Given the description of an element on the screen output the (x, y) to click on. 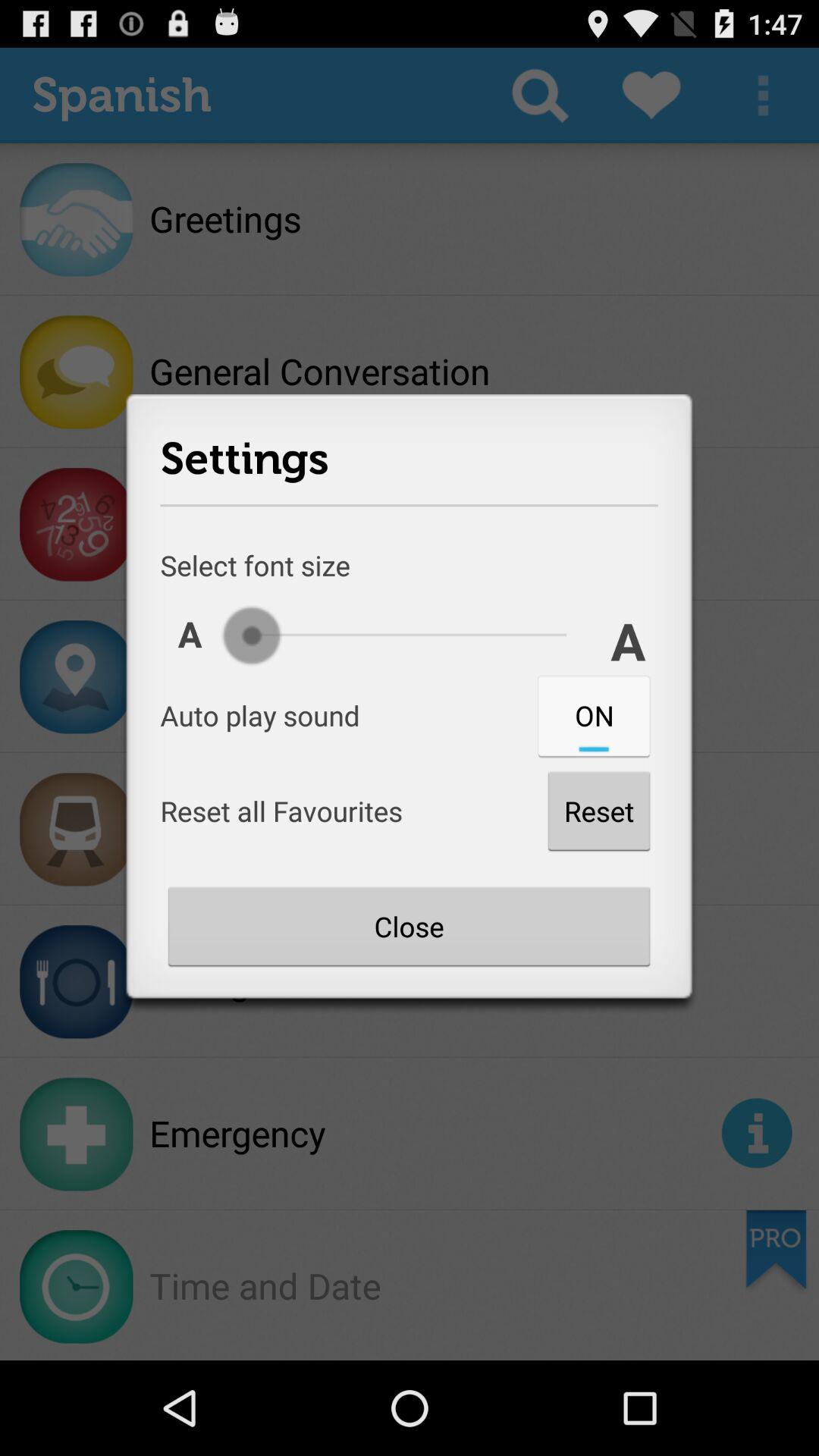
jump until the on (594, 715)
